Given the description of an element on the screen output the (x, y) to click on. 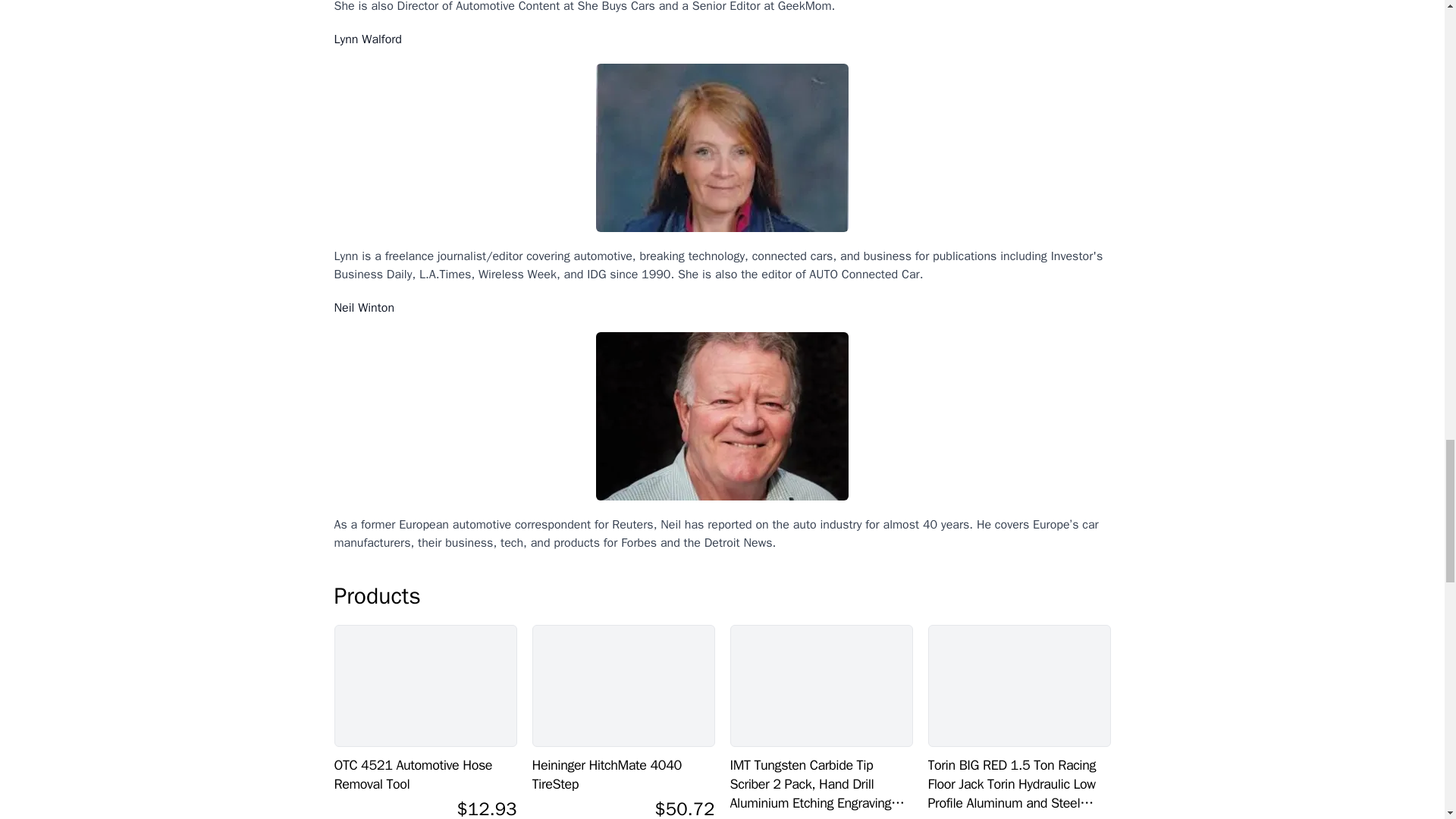
Heininger HitchMate 4040 TireStep (623, 774)
Heininger HitchMate 4040 TireStep (622, 685)
Heininger HitchMate 4040 TireStep (623, 774)
OTC 4521 Automotive Hose Removal Tool (425, 685)
OTC 4521 Automotive Hose Removal Tool (424, 774)
OTC 4521 Automotive Hose Removal Tool (424, 774)
